Given the description of an element on the screen output the (x, y) to click on. 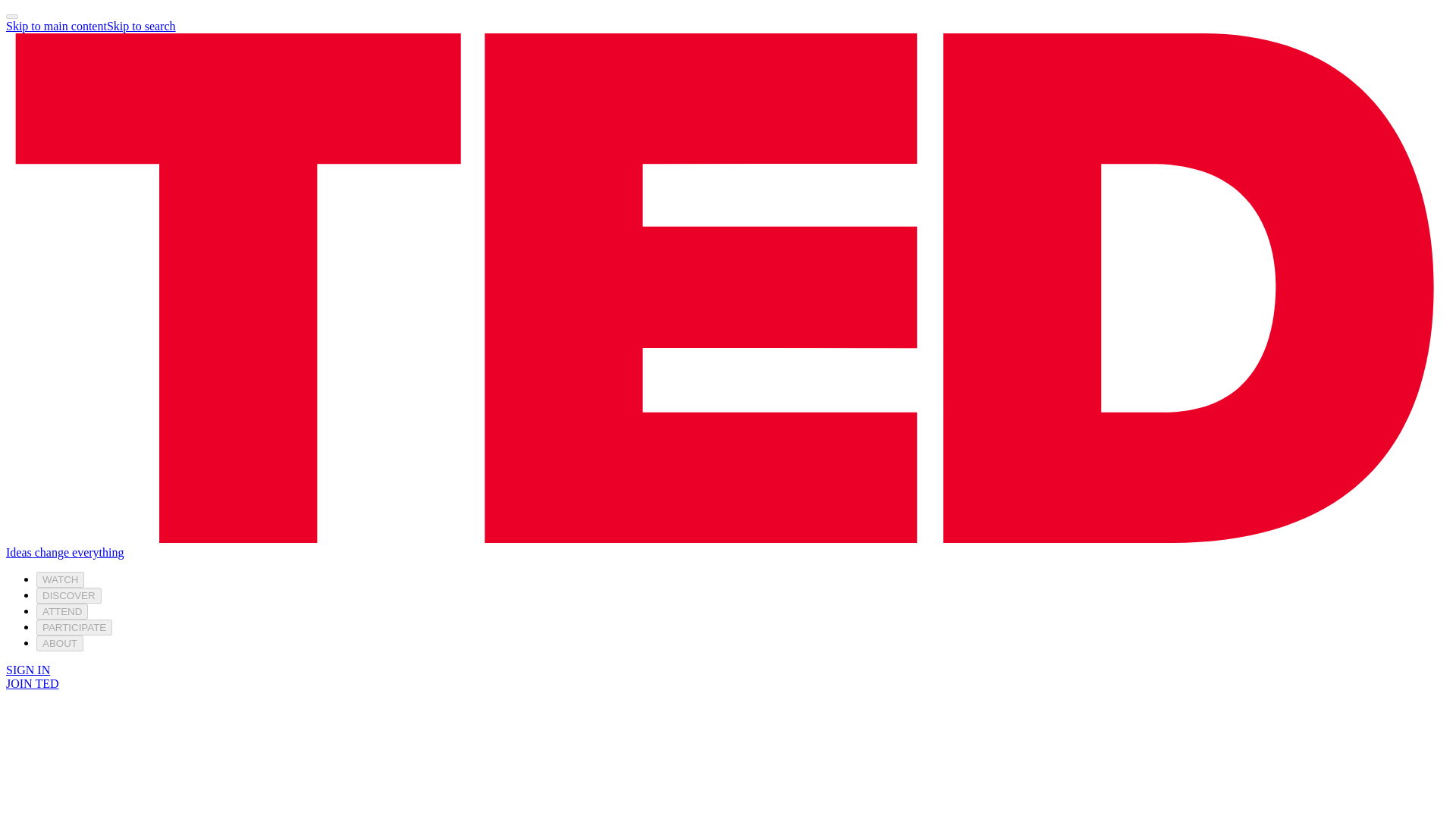
WATCH (60, 579)
PARTICIPATE (74, 627)
Skip to search (141, 25)
ABOUT (59, 643)
ATTEND (61, 611)
Skip to main content (55, 25)
DISCOVER (68, 595)
